Given the description of an element on the screen output the (x, y) to click on. 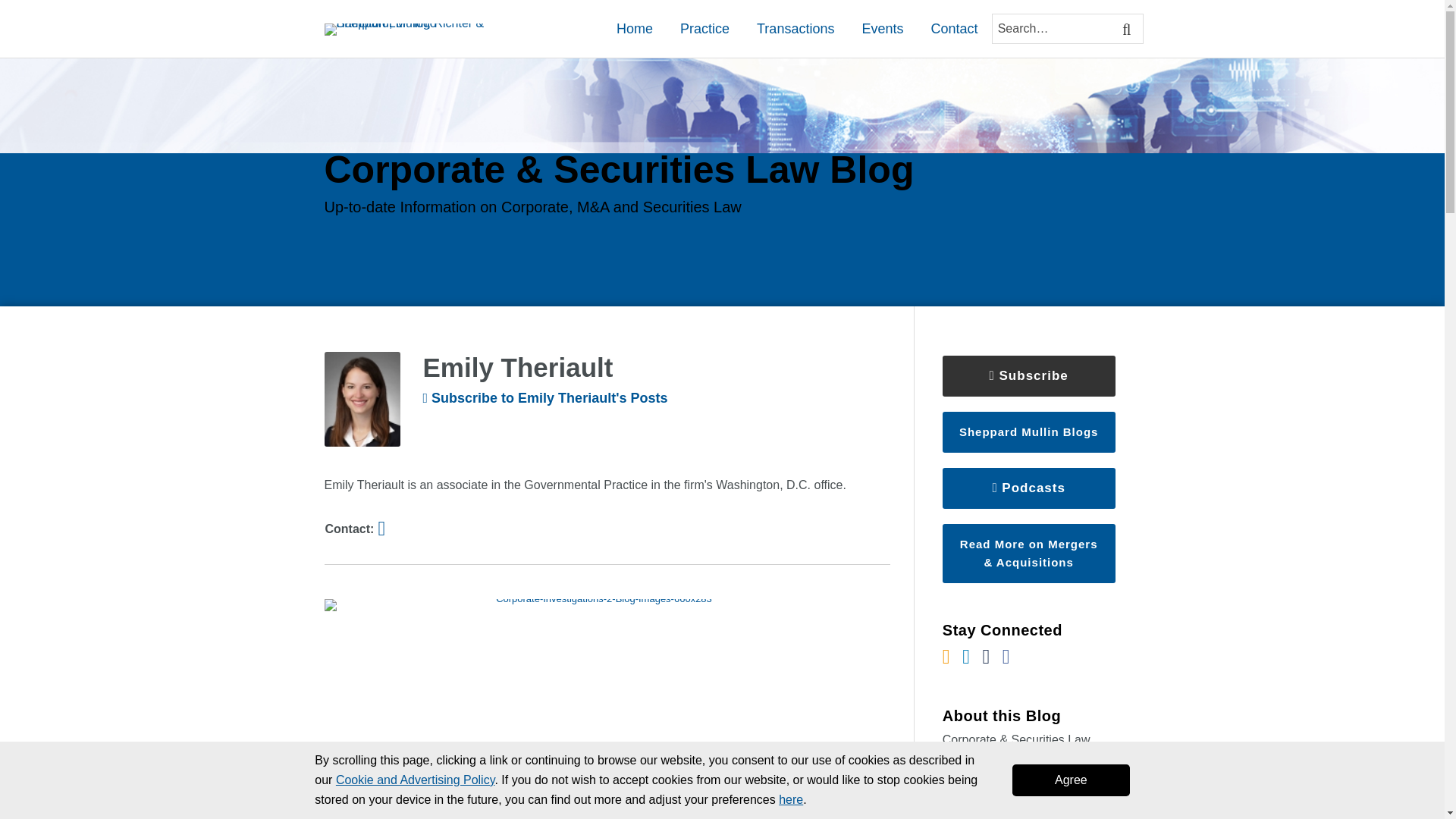
SEARCH (1128, 28)
here (790, 799)
Contact (953, 28)
Cookie and Advertising Policy (415, 779)
Subscribe (1028, 375)
Transactions (795, 28)
Sheppard Mullin Blogs (1028, 431)
Events (881, 28)
Home (633, 28)
Practice (704, 28)
